Given the description of an element on the screen output the (x, y) to click on. 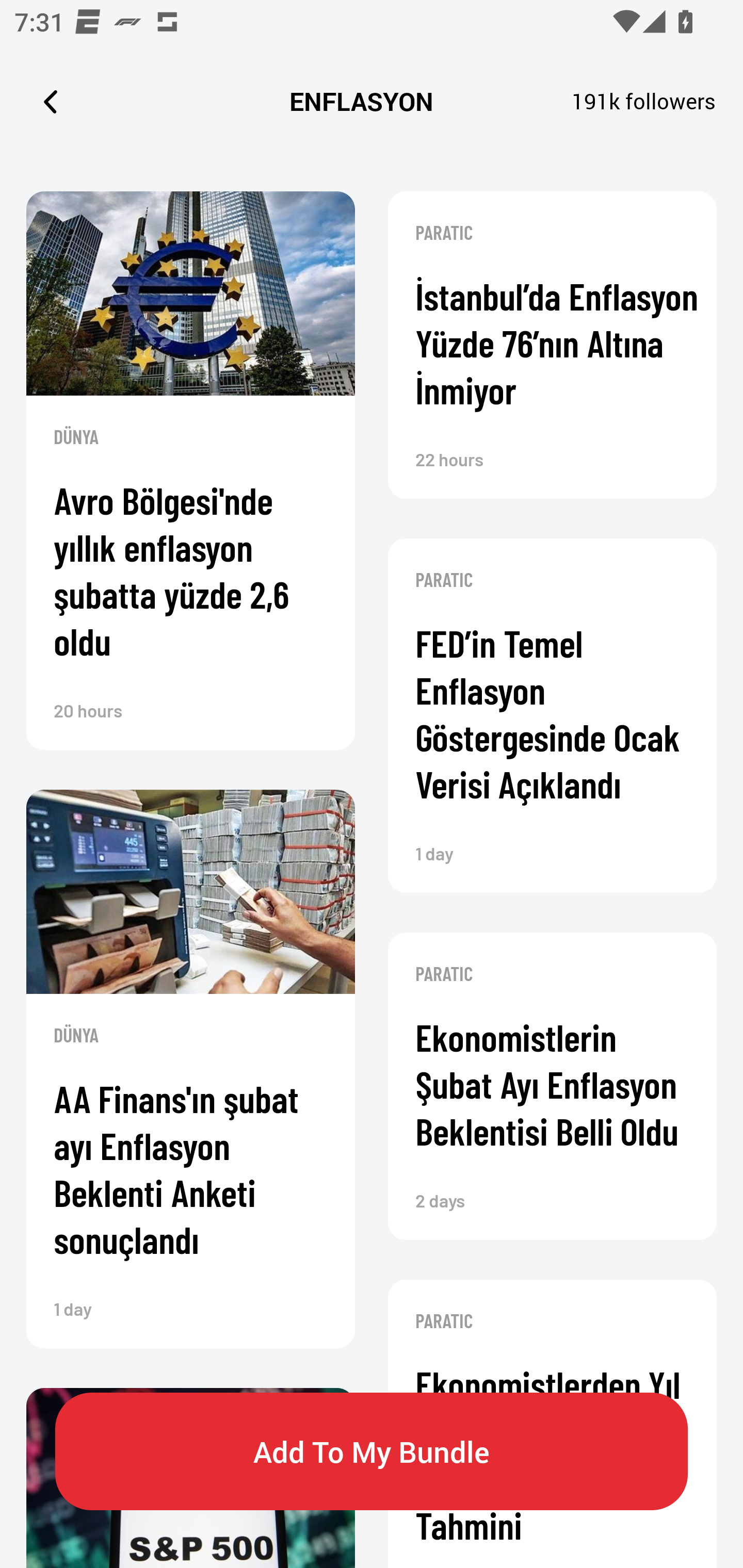
Leading Icon (50, 101)
Add To My Bundle (371, 1450)
